Given the description of an element on the screen output the (x, y) to click on. 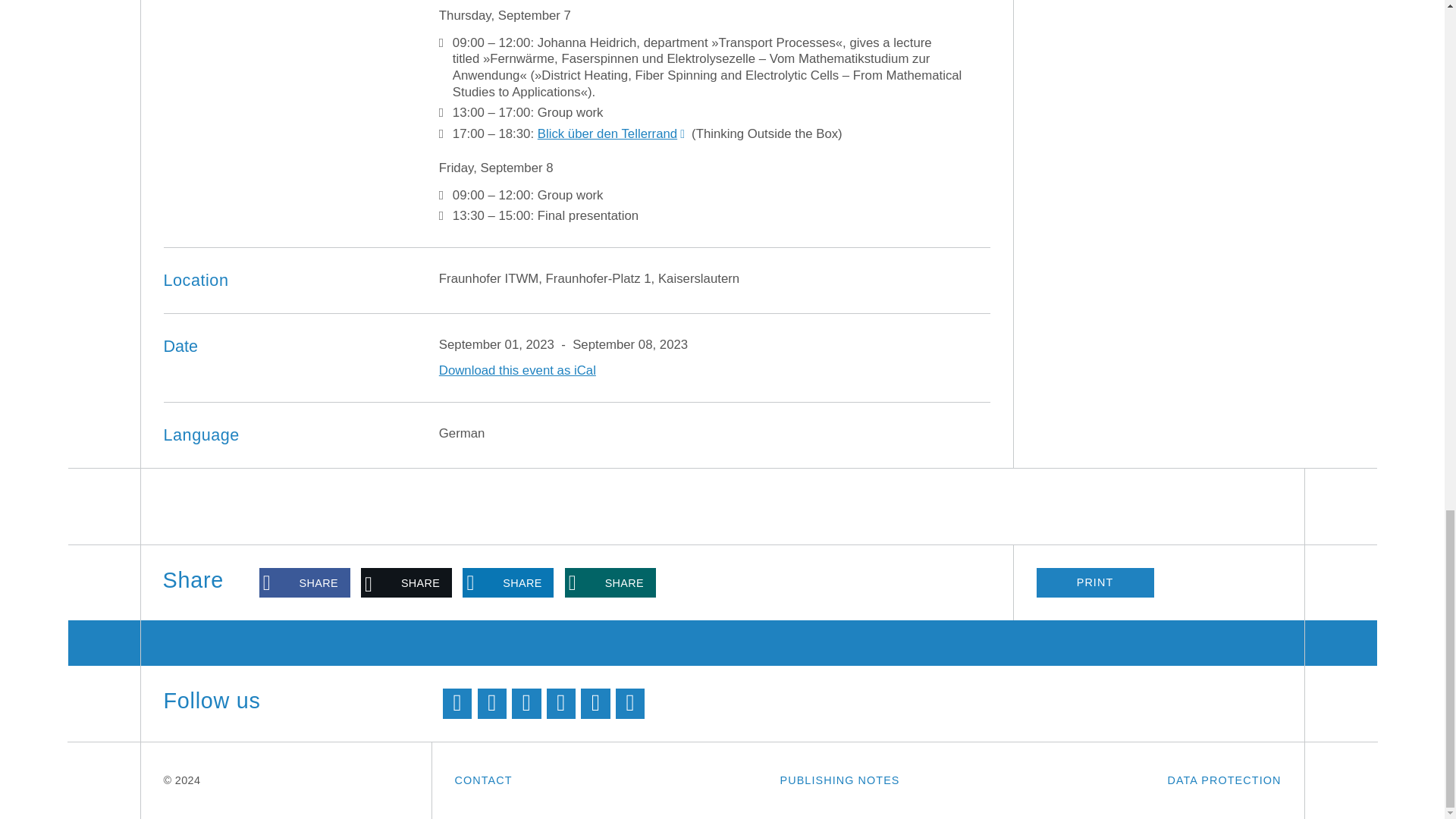
Share on Facebook (304, 583)
Share on XING (610, 583)
Share on LinkedIn (508, 583)
Share on X (406, 583)
